Given the description of an element on the screen output the (x, y) to click on. 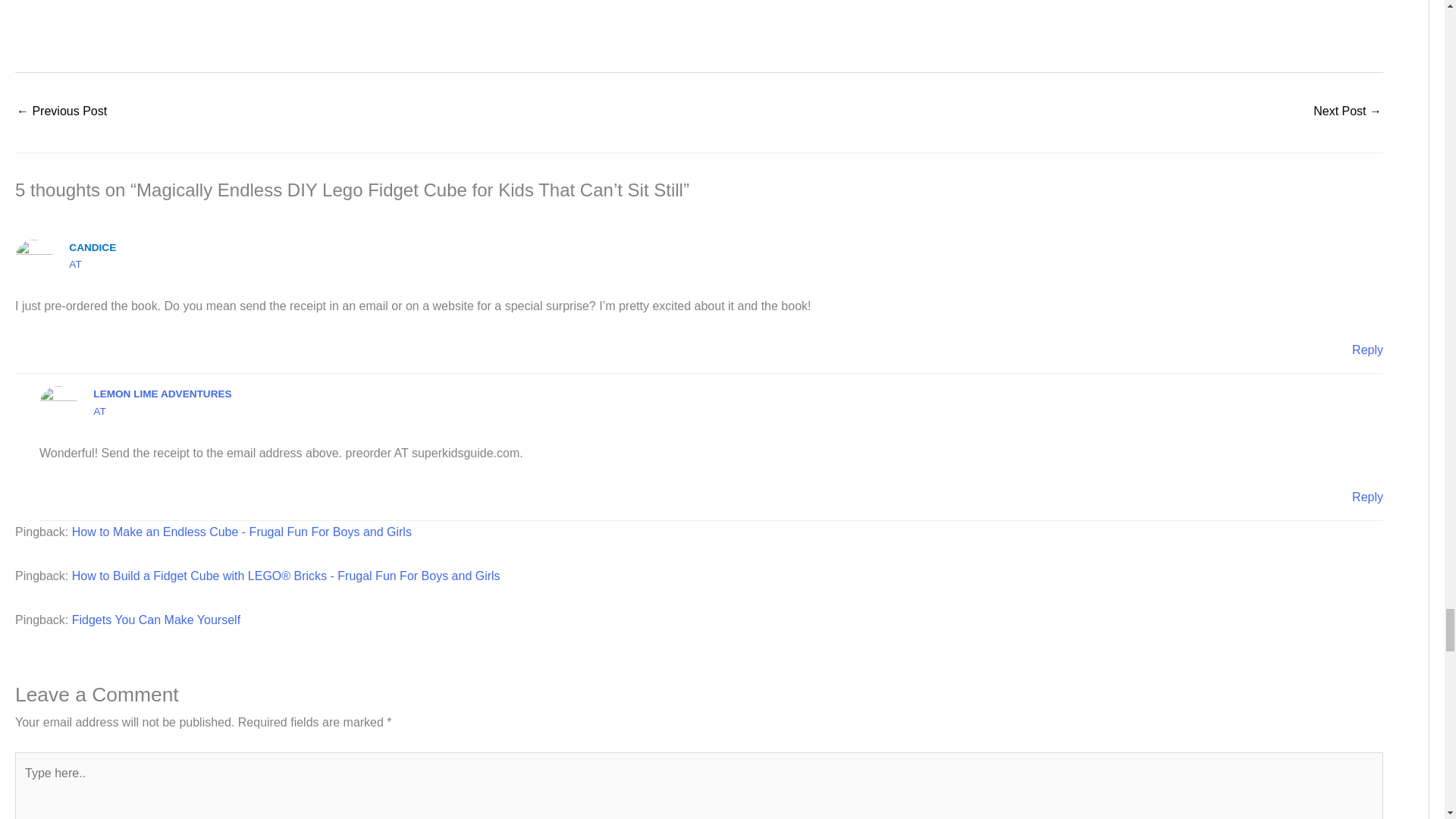
AT (74, 264)
How to Make an Endless Cube - Frugal Fun For Boys and Girls (241, 531)
Reply (1367, 349)
AT (98, 410)
Reply (1367, 496)
LEMON LIME ADVENTURES (162, 393)
Fidgets You Can Make Yourself (155, 619)
